Given the description of an element on the screen output the (x, y) to click on. 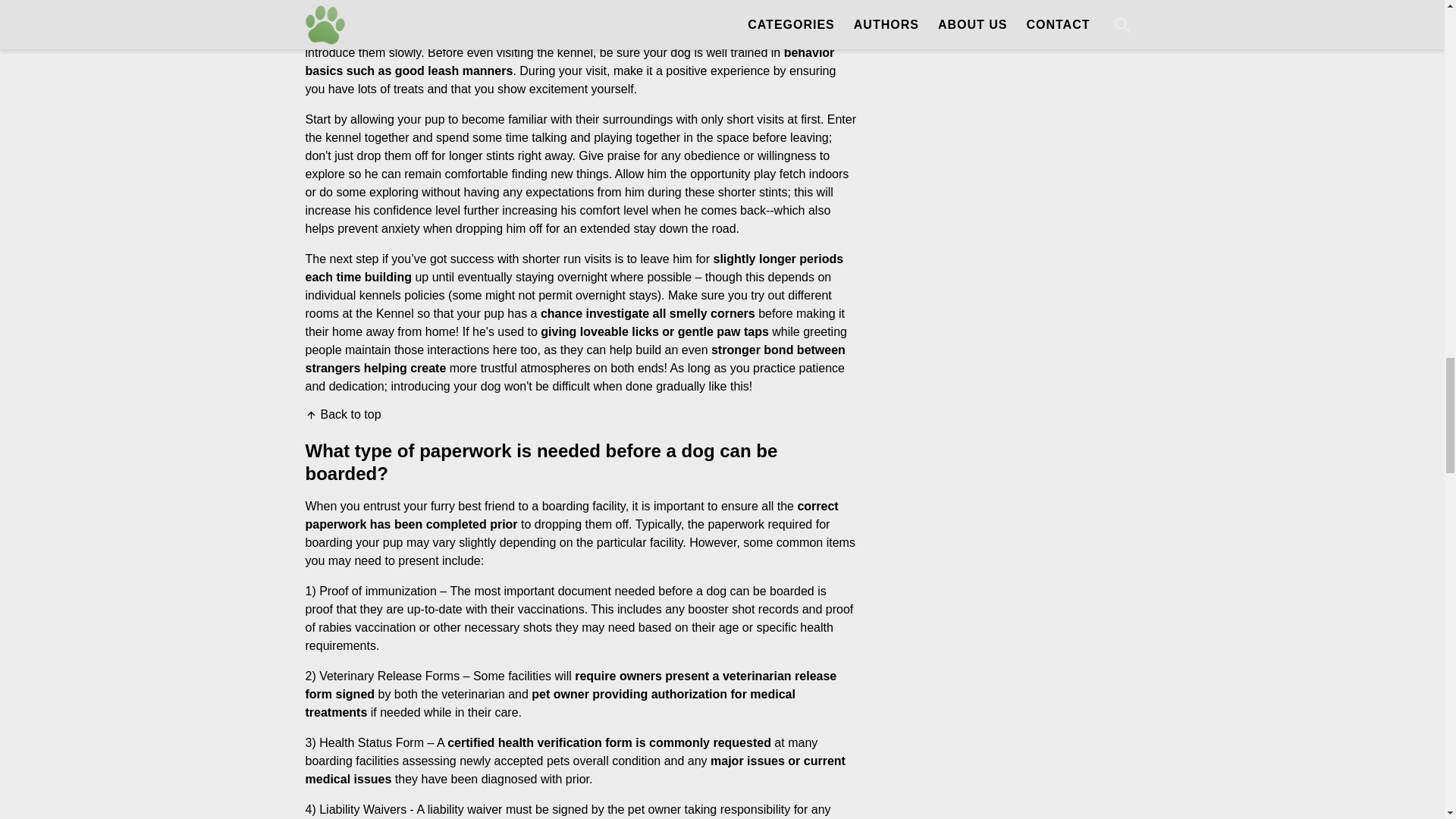
Back to top (342, 414)
